Given the description of an element on the screen output the (x, y) to click on. 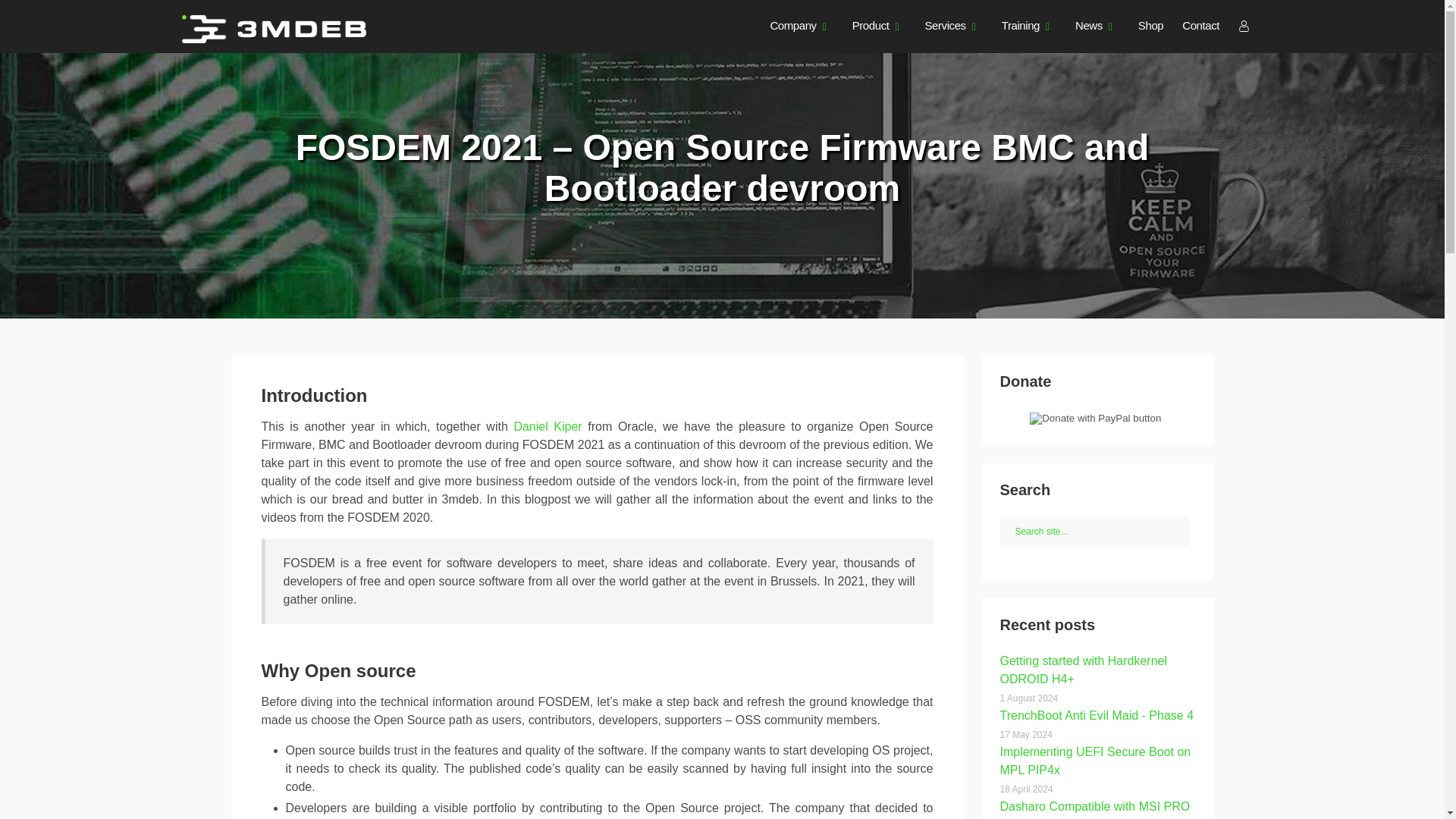
PayPal - The safer, easier way to pay online! (1094, 418)
Services (944, 26)
Training (1020, 26)
Product (870, 26)
News (1088, 26)
Company (792, 26)
